Given the description of an element on the screen output the (x, y) to click on. 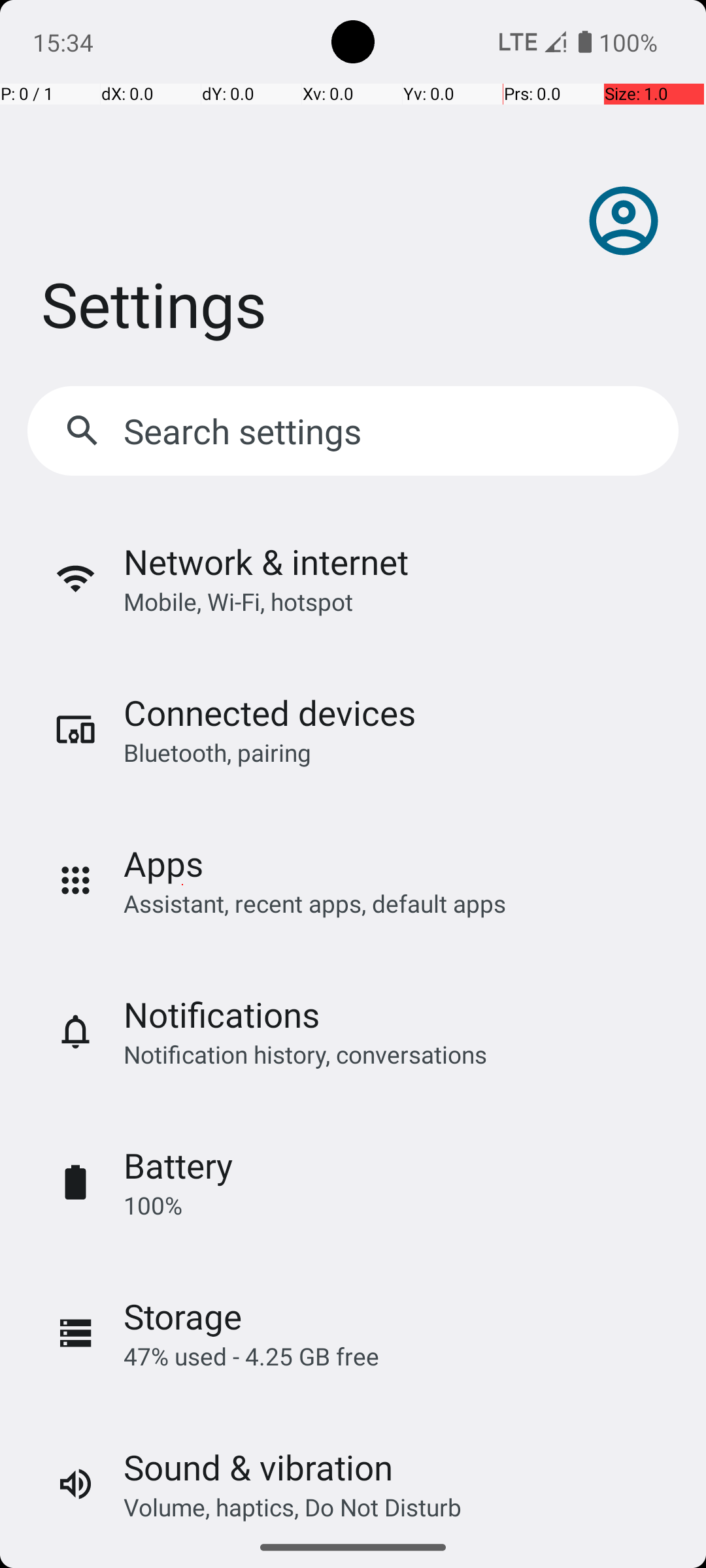
47% used - 4.25 GB free Element type: android.widget.TextView (251, 1355)
